Given the description of an element on the screen output the (x, y) to click on. 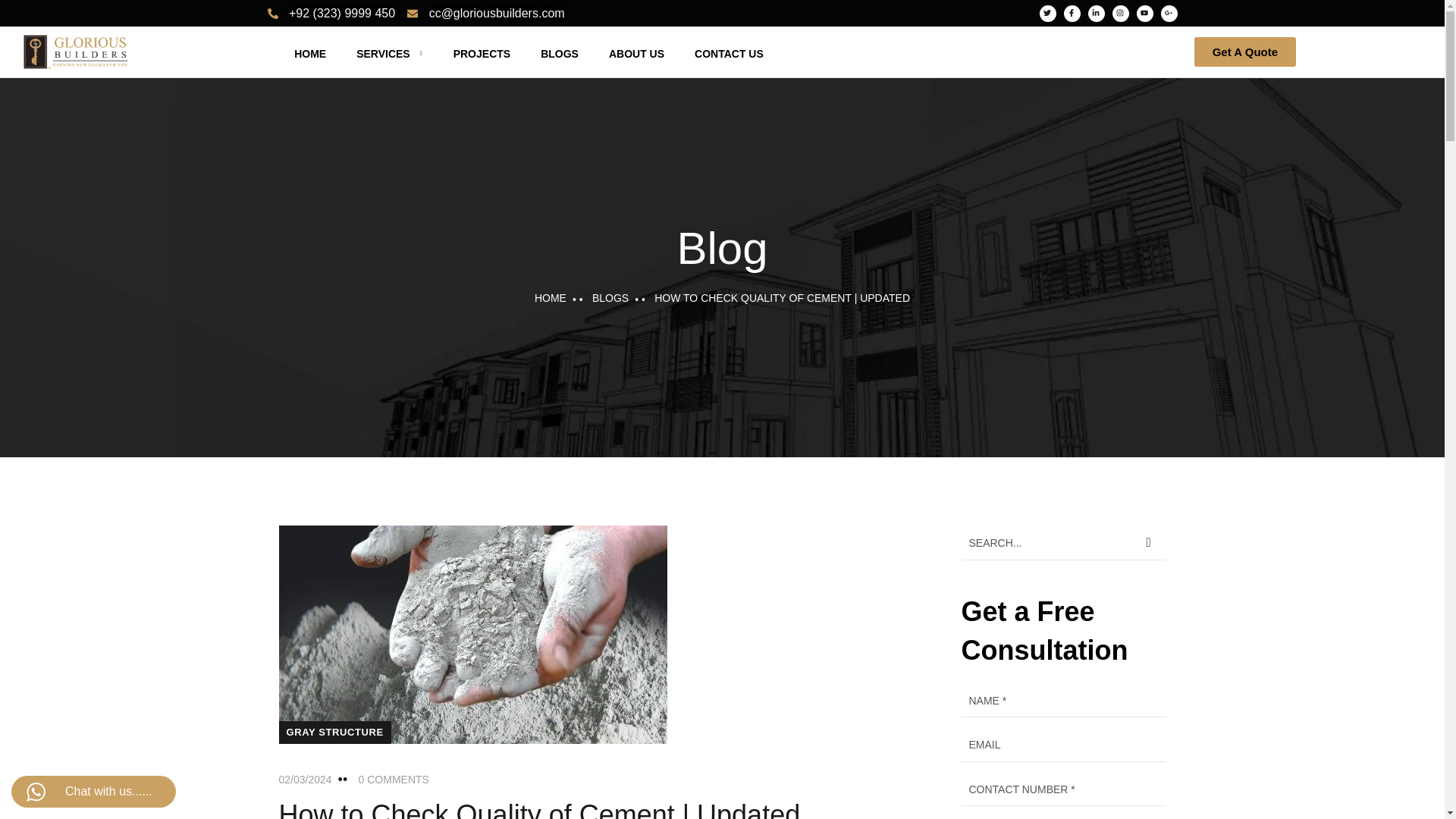
HOME (310, 53)
PROJECTS (481, 53)
BLOGS (559, 53)
CONTACT US (728, 53)
Get A Quote (1244, 51)
ABOUT US (635, 53)
SERVICES (389, 53)
